Given the description of an element on the screen output the (x, y) to click on. 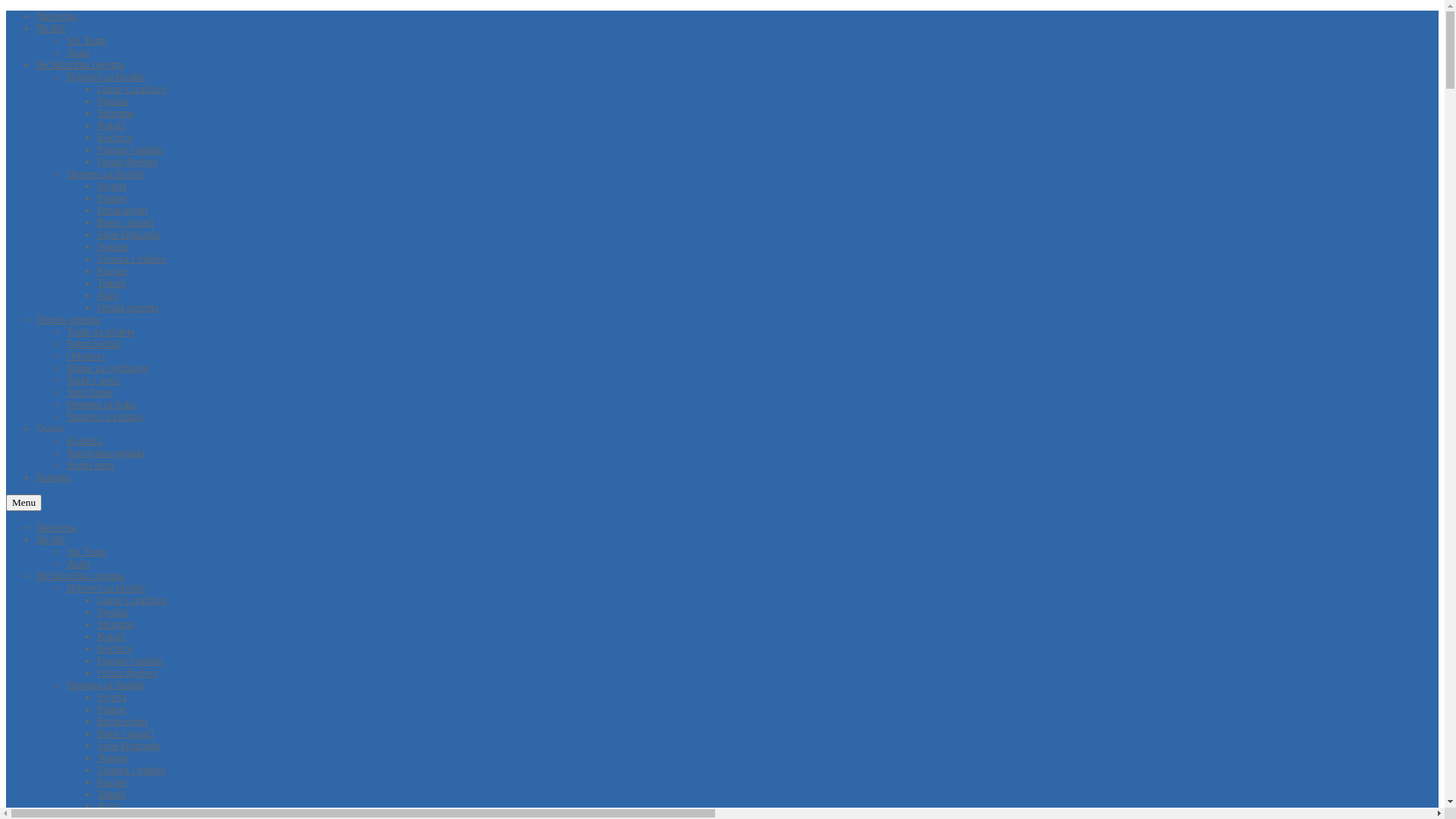
Nogare Element type: text (112, 757)
Brzinomjeri Element type: text (122, 210)
Oprema za bicikle Element type: text (105, 684)
Naslovna Element type: text (56, 527)
Sjedala Element type: text (112, 100)
Pumpe Element type: text (111, 197)
Zvonca i trubice Element type: text (131, 258)
Ostali dijelovi Element type: text (127, 161)
Sobni bicikli Element type: text (93, 343)
Kontakt Element type: text (53, 477)
Zvonca i trubice Element type: text (131, 769)
Sitni fitnes Element type: text (89, 392)
Sjedala Element type: text (112, 612)
Svjetla Element type: text (111, 696)
Six Team Element type: text (86, 551)
Dijelovi za bicikle Element type: text (105, 587)
Nastavci za klupu Element type: text (104, 416)
Kacige Element type: text (112, 781)
Atala Element type: text (77, 52)
Svjetla Element type: text (111, 185)
Pogoni i pedale Element type: text (130, 660)
Atala Element type: text (77, 563)
Ostala oprema Element type: text (127, 307)
Brzinomjeri Element type: text (122, 721)
Naslovna Element type: text (56, 15)
Specijalna ponuda Element type: text (105, 452)
Pogoni i pedale Element type: text (130, 149)
Shimano Element type: text (115, 624)
Menu Element type: text (23, 502)
Bicikli Element type: text (50, 28)
Ostali dijelovi Element type: text (127, 672)
Dijelovi za bicikle Element type: text (105, 76)
Pumpe Element type: text (111, 709)
Fitness oprema Element type: text (68, 319)
Oprema za bicikle Element type: text (105, 173)
Nogare Element type: text (112, 246)
Bicikli Element type: text (50, 539)
Tekstil Element type: text (111, 282)
Kacige Element type: text (112, 270)
Six Team Element type: text (86, 40)
Tekstil Element type: text (111, 794)
Alati Element type: text (107, 295)
Alati Element type: text (107, 806)
Stolni tenis Element type: text (90, 464)
Orbitreci Element type: text (85, 355)
Shimano Element type: text (115, 113)
Oprema za boks Element type: text (100, 404)
